Given the description of an element on the screen output the (x, y) to click on. 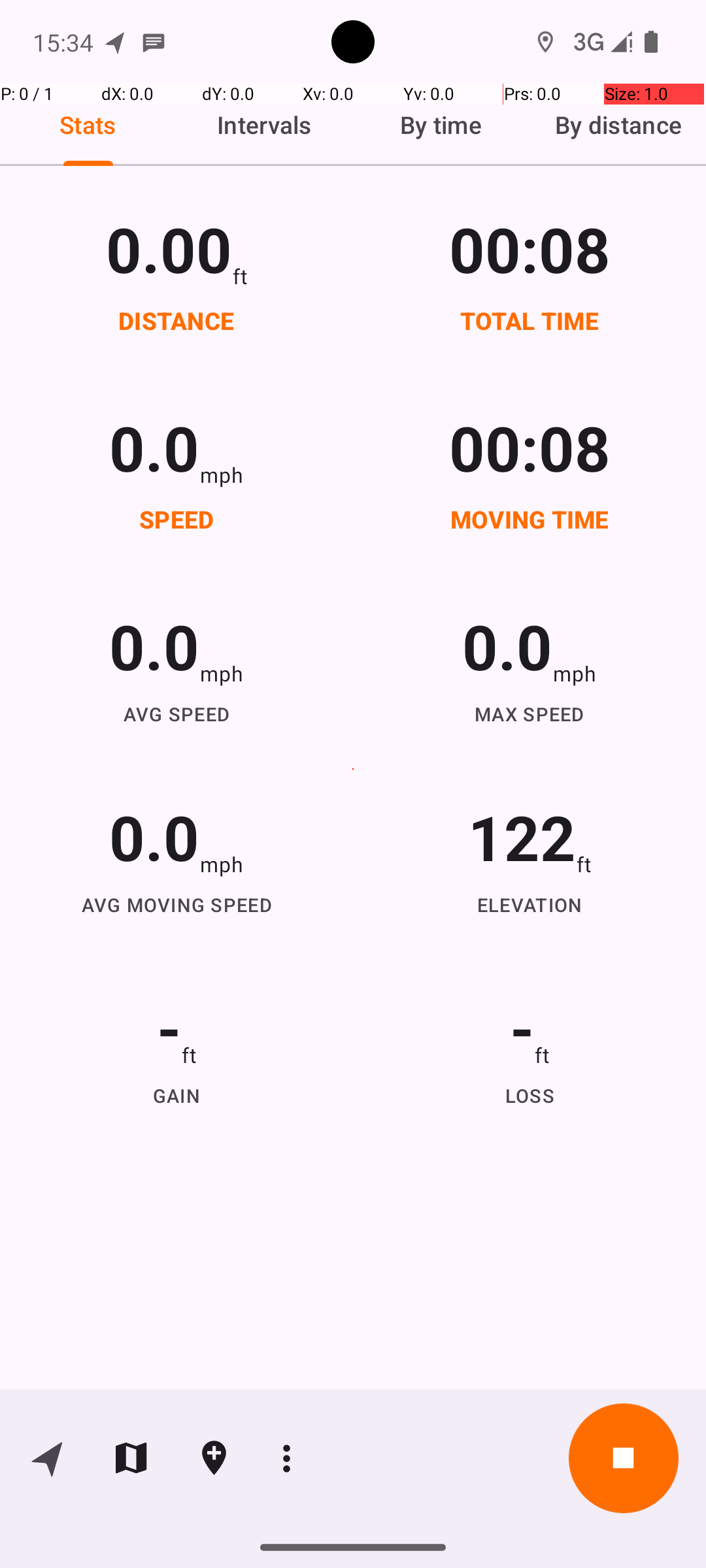
Insert marker Element type: android.widget.Button (213, 1458)
Stop Element type: android.widget.ImageButton (623, 1458)
0.00 Element type: android.widget.TextView (168, 248)
00:09 Element type: android.widget.TextView (529, 248)
0.0 Element type: android.widget.TextView (154, 446)
mph Element type: android.widget.TextView (221, 474)
SPEED Element type: android.widget.TextView (176, 518)
00:08 Element type: android.widget.TextView (529, 446)
AVG SPEED Element type: android.widget.TextView (176, 713)
MAX SPEED Element type: android.widget.TextView (529, 713)
AVG MOVING SPEED Element type: android.widget.TextView (176, 904)
122 Element type: android.widget.TextView (521, 836)
ELEVATION Element type: android.widget.TextView (529, 904)
- Element type: android.widget.TextView (168, 1026)
